Given the description of an element on the screen output the (x, y) to click on. 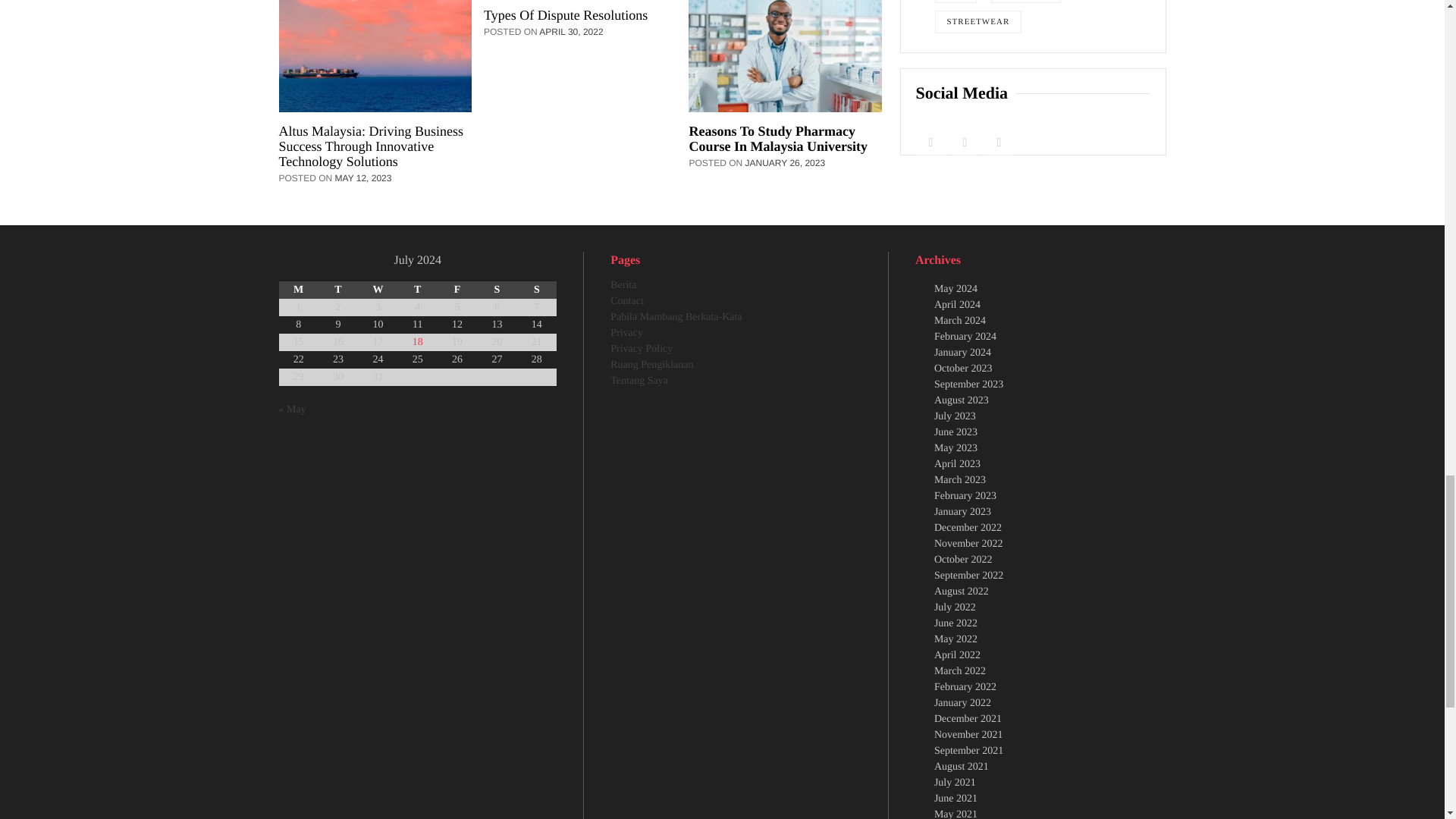
Monday (298, 289)
Types Of Dispute Resolutions (580, 14)
MAY 12, 2023 (366, 177)
Wednesday (377, 289)
Reasons To Study Pharmacy Course In Malaysia University (785, 138)
Thursday (417, 289)
Tuesday (338, 289)
JANUARY 26, 2023 (788, 163)
Friday (457, 289)
Sunday (536, 289)
APRIL 30, 2022 (574, 31)
Saturday (496, 289)
